Given the description of an element on the screen output the (x, y) to click on. 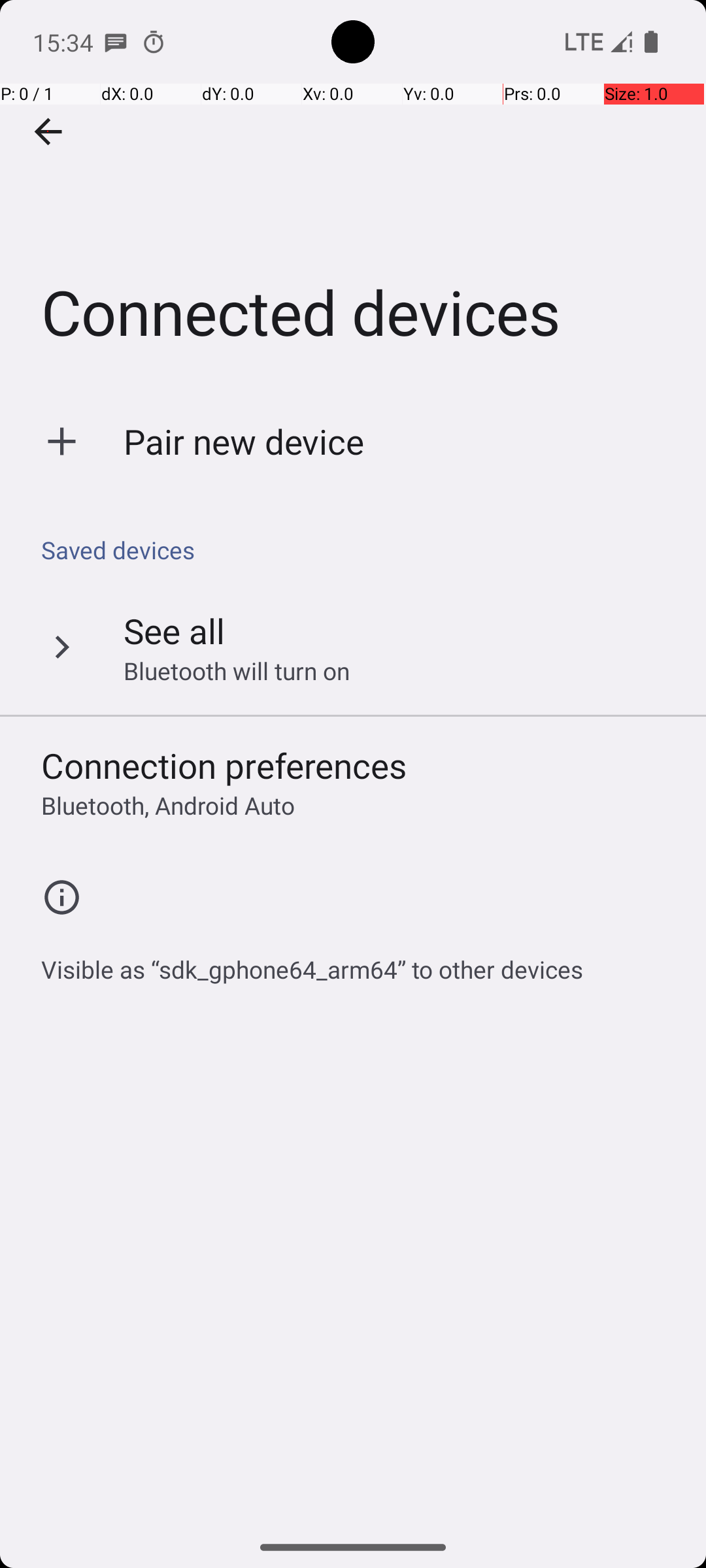
Bluetooth will turn on Element type: android.widget.TextView (236, 670)
Visible as “sdk_gphone64_arm64” to other devices Element type: android.widget.TextView (312, 962)
